Given the description of an element on the screen output the (x, y) to click on. 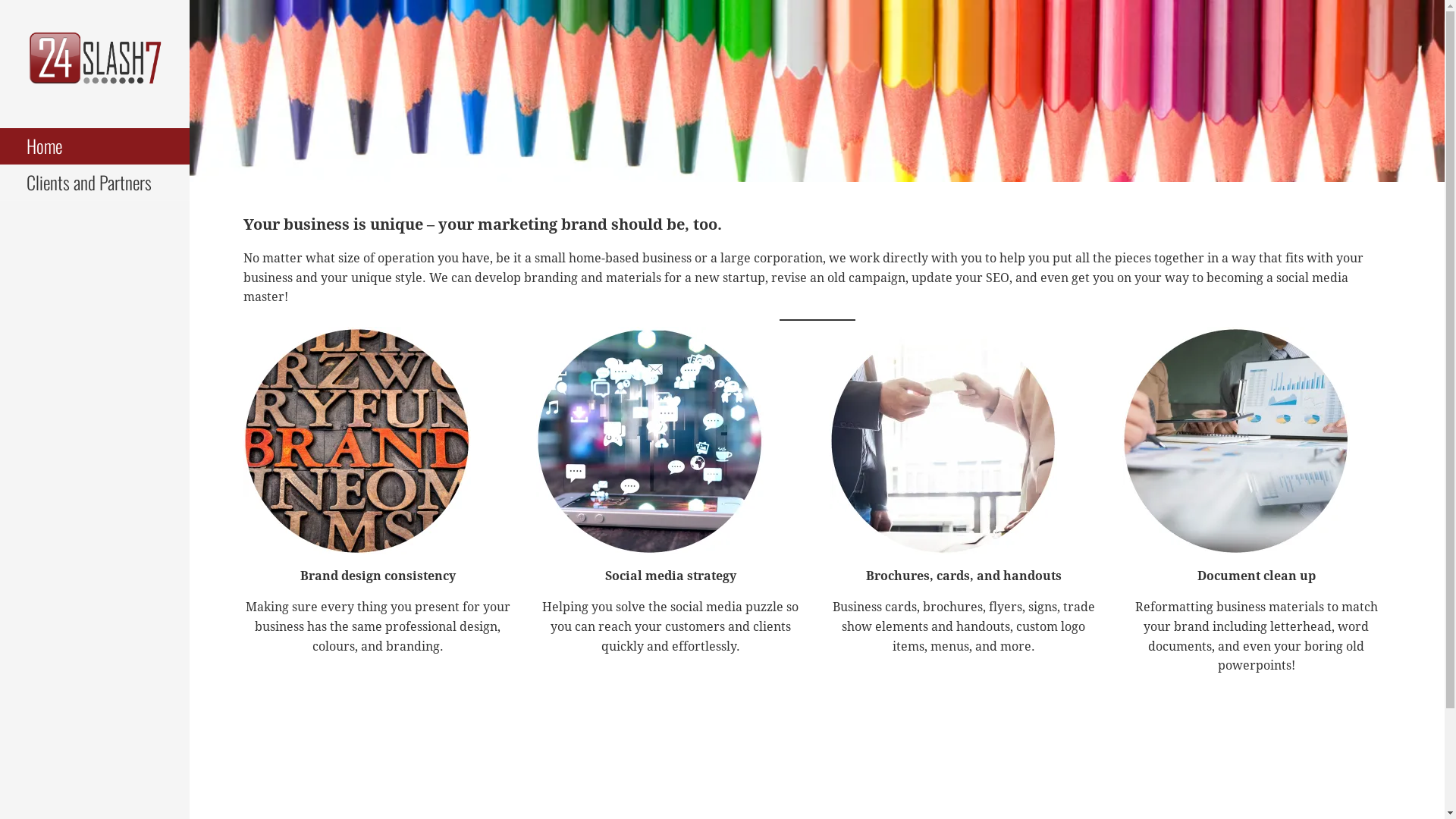
Clients and Partners Element type: text (94, 182)
Home Element type: text (94, 146)
